Given the description of an element on the screen output the (x, y) to click on. 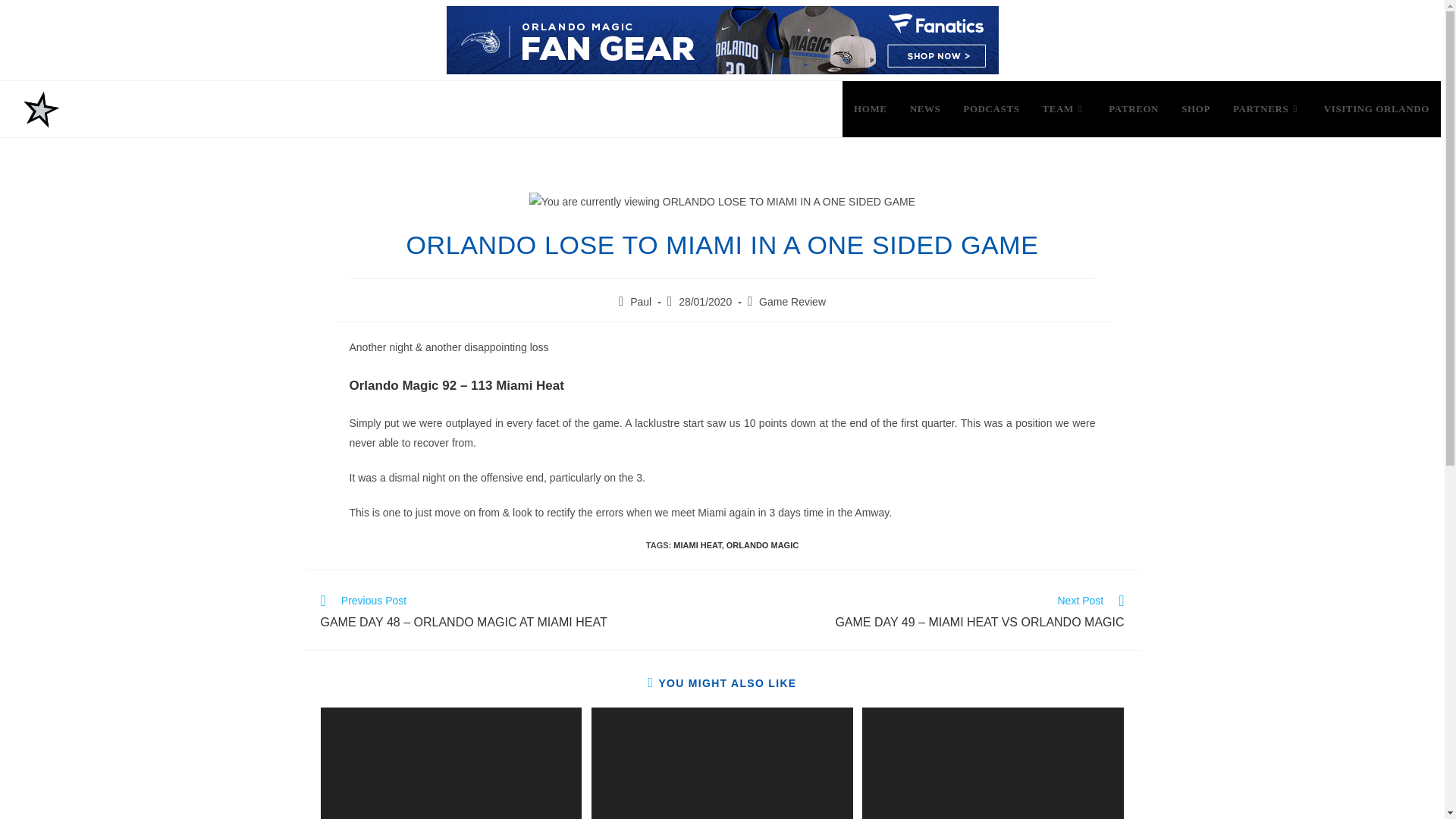
HOME (870, 109)
PODCASTS (991, 109)
Posts by Paul (640, 301)
SHOP (1195, 109)
VISITING ORLANDO (1377, 109)
PATREON (1133, 109)
TEAM (1063, 109)
PARTNERS (1267, 109)
MIAMI HEAT (696, 544)
ORLANDO MAGIC (761, 544)
Game Review (791, 301)
Paul (640, 301)
NEWS (925, 109)
